Given the description of an element on the screen output the (x, y) to click on. 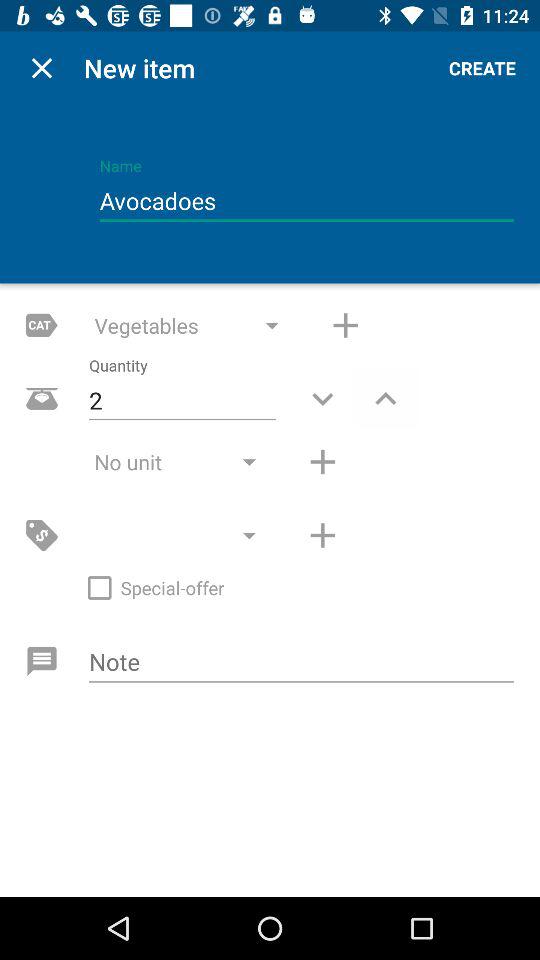
click to note option (301, 663)
